Given the description of an element on the screen output the (x, y) to click on. 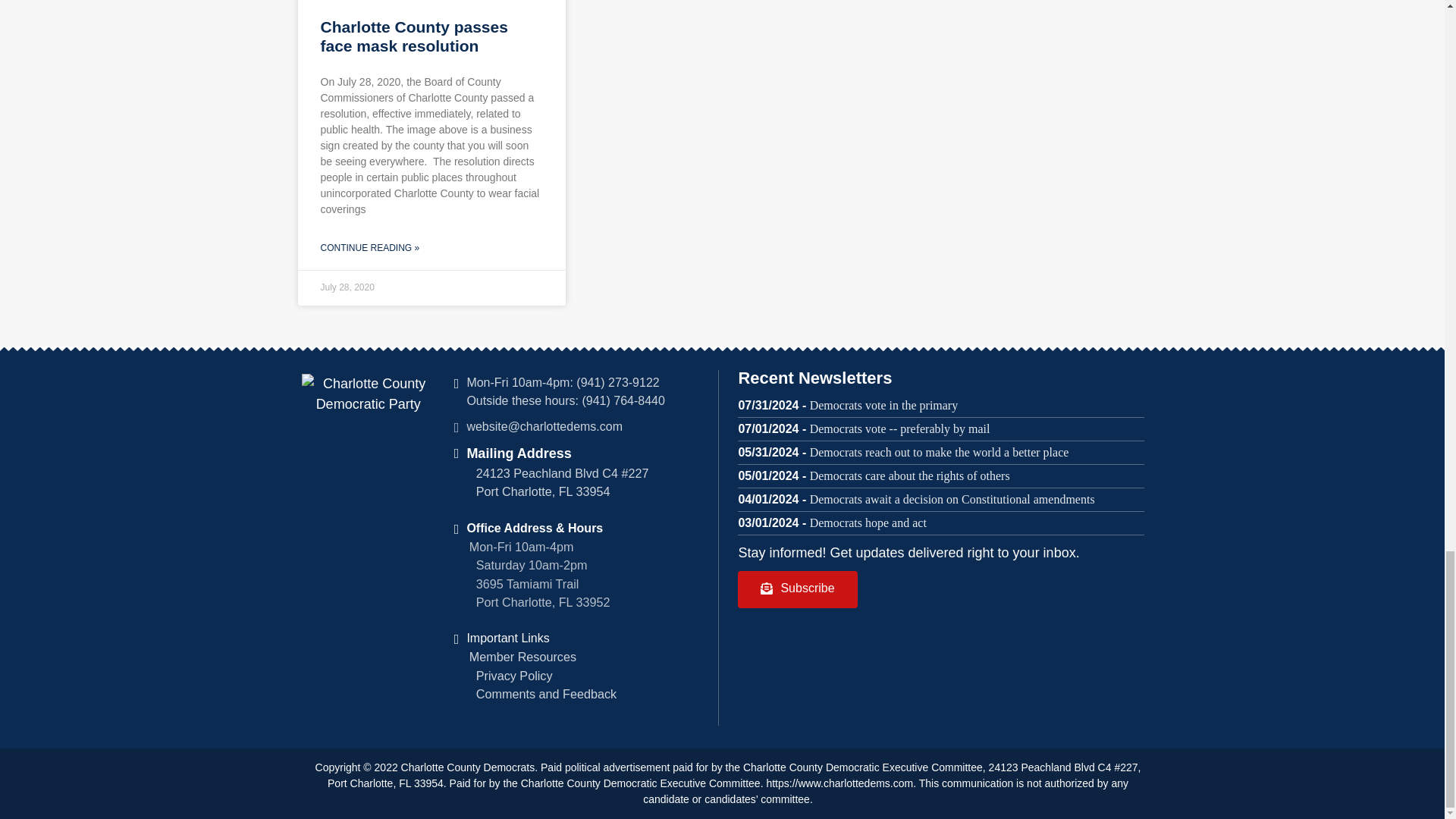
Democrats reach out to make the world a better place (938, 451)
Democrats await a decision on Constitutional amendments (951, 499)
Democrats vote in the primary (883, 404)
Democrats vote -- preferably by mail (899, 428)
Democrats hope and act (867, 522)
Democrats care about the rights of others (909, 475)
